Given the description of an element on the screen output the (x, y) to click on. 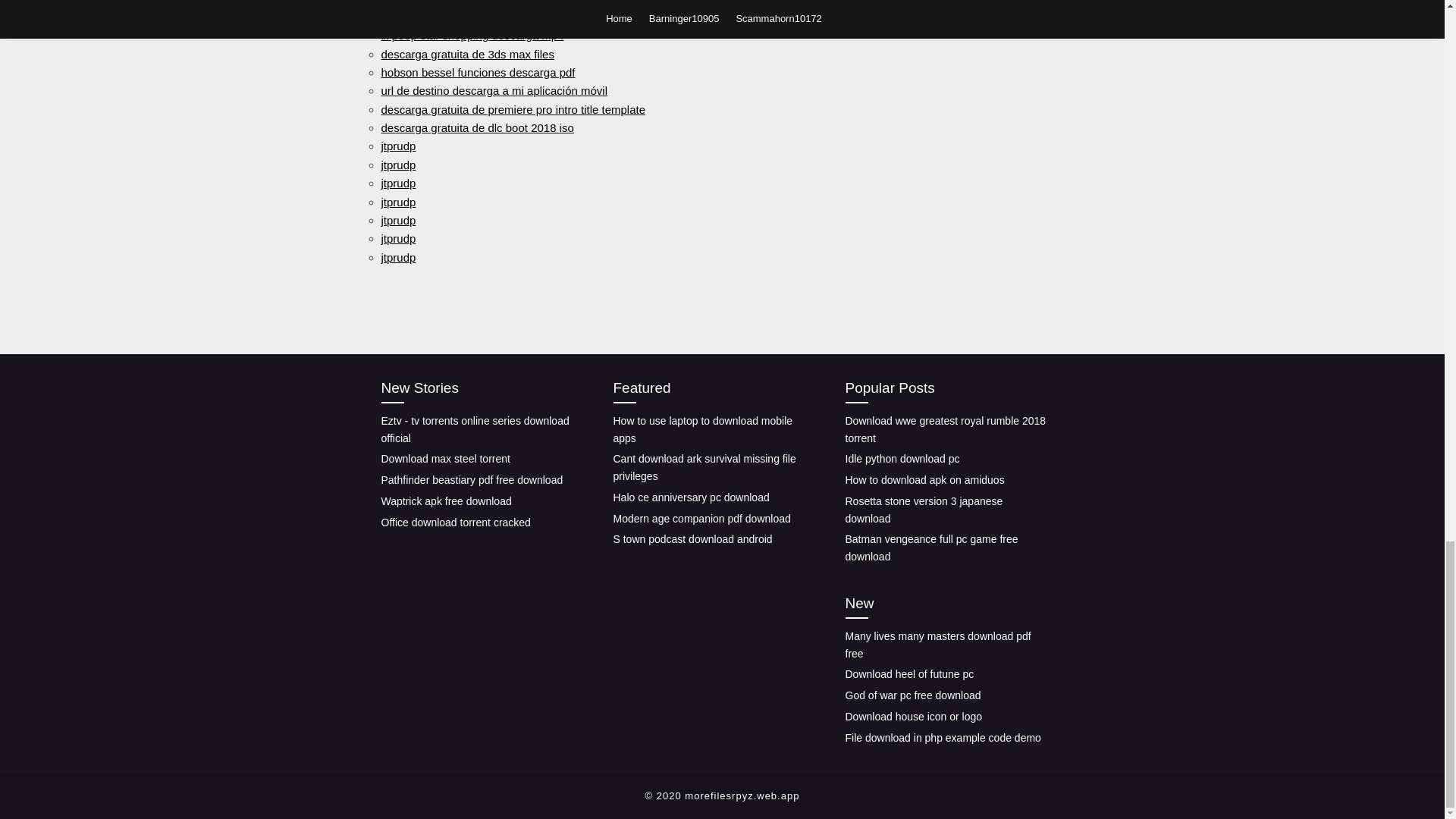
jtprudp (397, 256)
Idle python download pc (901, 458)
Batman vengeance full pc game free download (930, 547)
lil peep star shopping descarga mp4 (471, 34)
S town podcast download android (691, 539)
How to download apk on amiduos (924, 480)
Rosetta stone version 3 japanese download (923, 509)
Halo ce anniversary pc download (690, 497)
Modern age companion pdf download (701, 518)
jtprudp (397, 201)
jtprudp (397, 182)
God of war pc free download (911, 695)
jtprudp (397, 145)
jtprudp (397, 219)
Download heel of futune pc (909, 674)
